Given the description of an element on the screen output the (x, y) to click on. 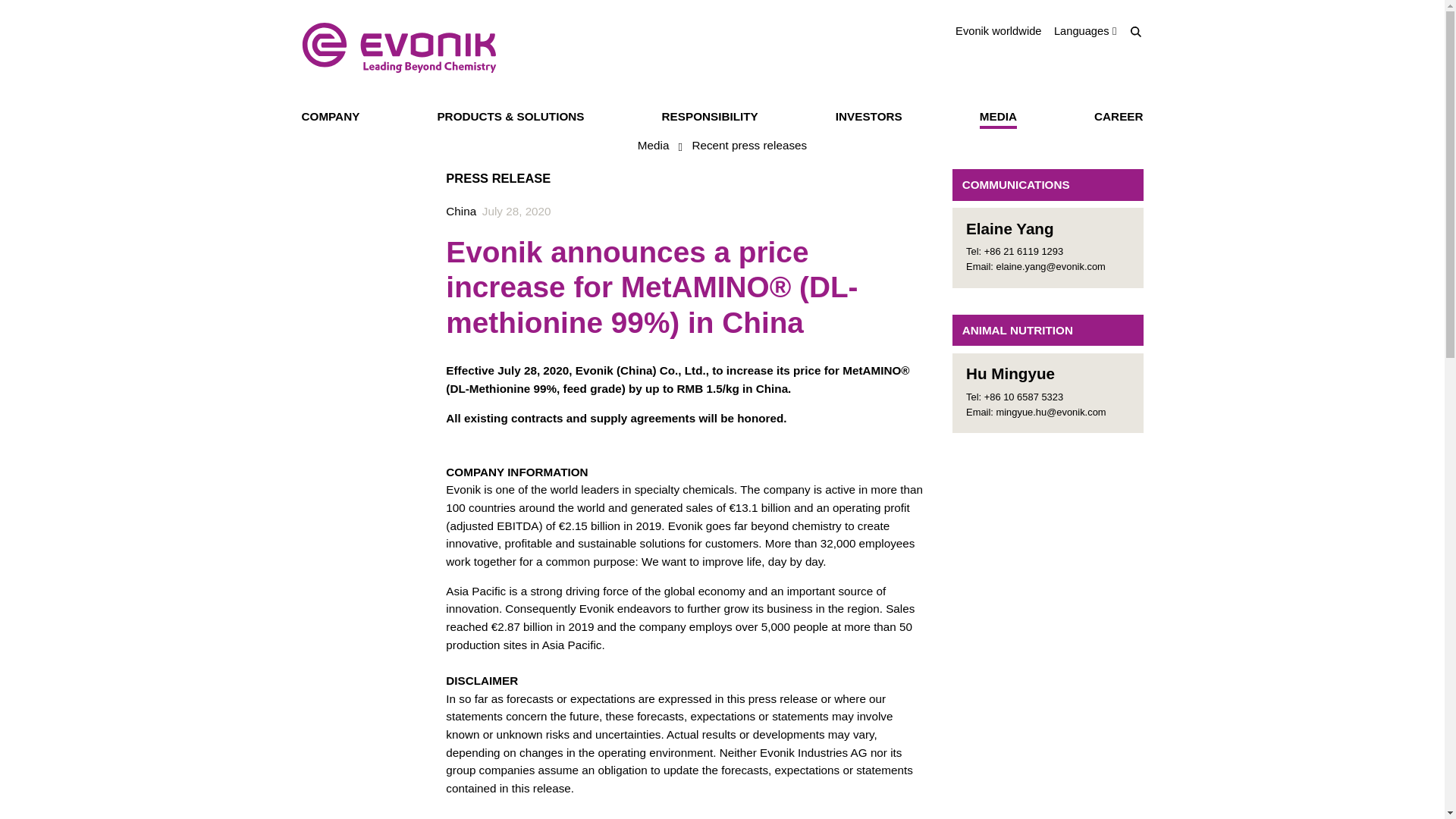
Media (653, 147)
CAREER (1118, 118)
Media (997, 118)
Evonik worldwide (998, 31)
RESPONSIBILITY (710, 118)
Company (330, 118)
Languages (1085, 30)
INVESTORS (868, 118)
Responsibility (710, 118)
Recent press releases (748, 147)
Media (653, 147)
Career (1118, 118)
Evonik worldwide (998, 31)
COMPANY (330, 118)
MEDIA (997, 118)
